Given the description of an element on the screen output the (x, y) to click on. 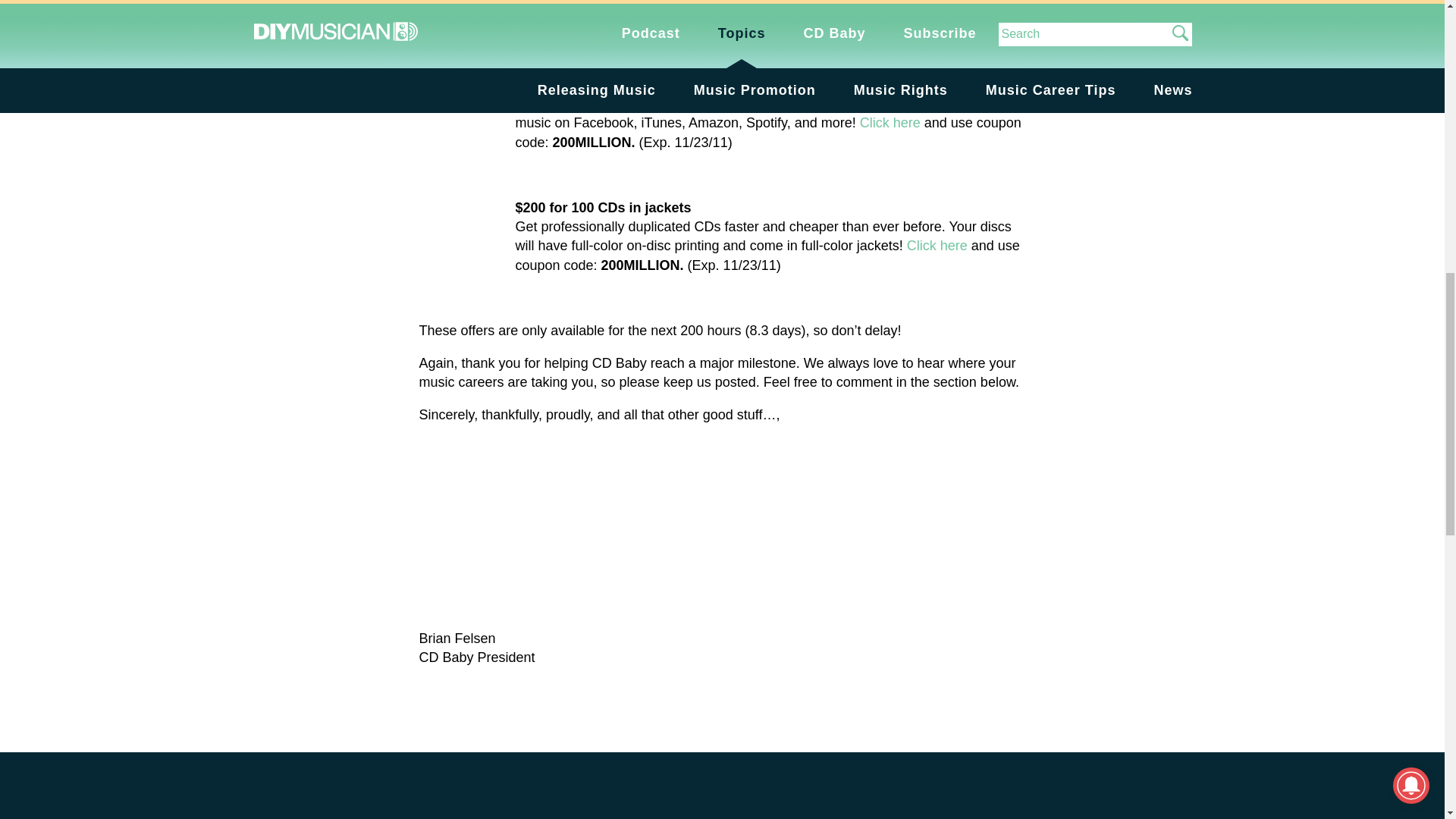
Click here (618, 3)
Click here (937, 245)
Click here (890, 122)
